Given the description of an element on the screen output the (x, y) to click on. 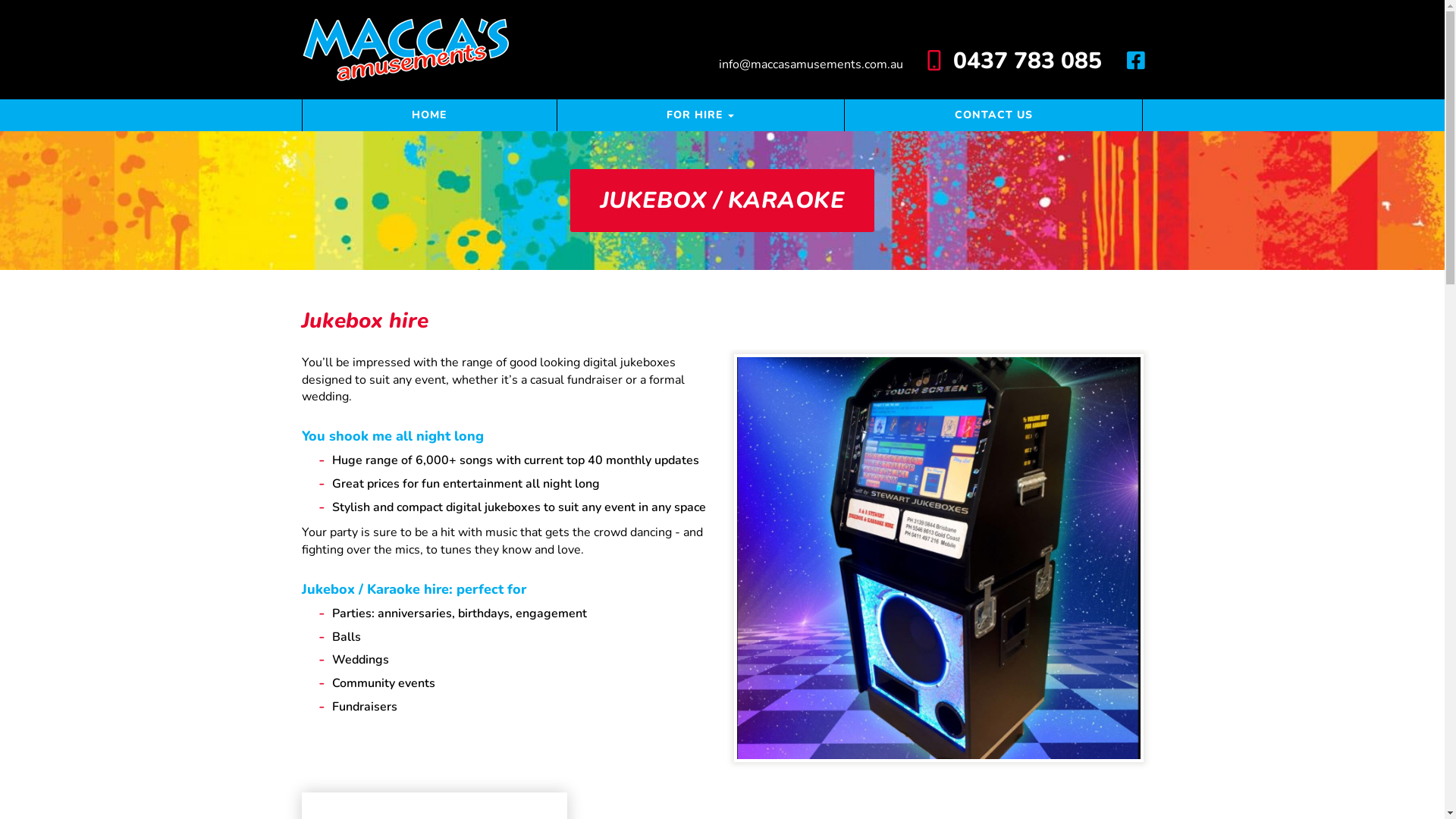
info@maccasamusements.com.au Element type: text (812, 64)
FOR HIRE Element type: text (700, 115)
HOME Element type: text (428, 115)
0437 783 085 Element type: text (1014, 60)
CONTACT US Element type: text (993, 115)
